Given the description of an element on the screen output the (x, y) to click on. 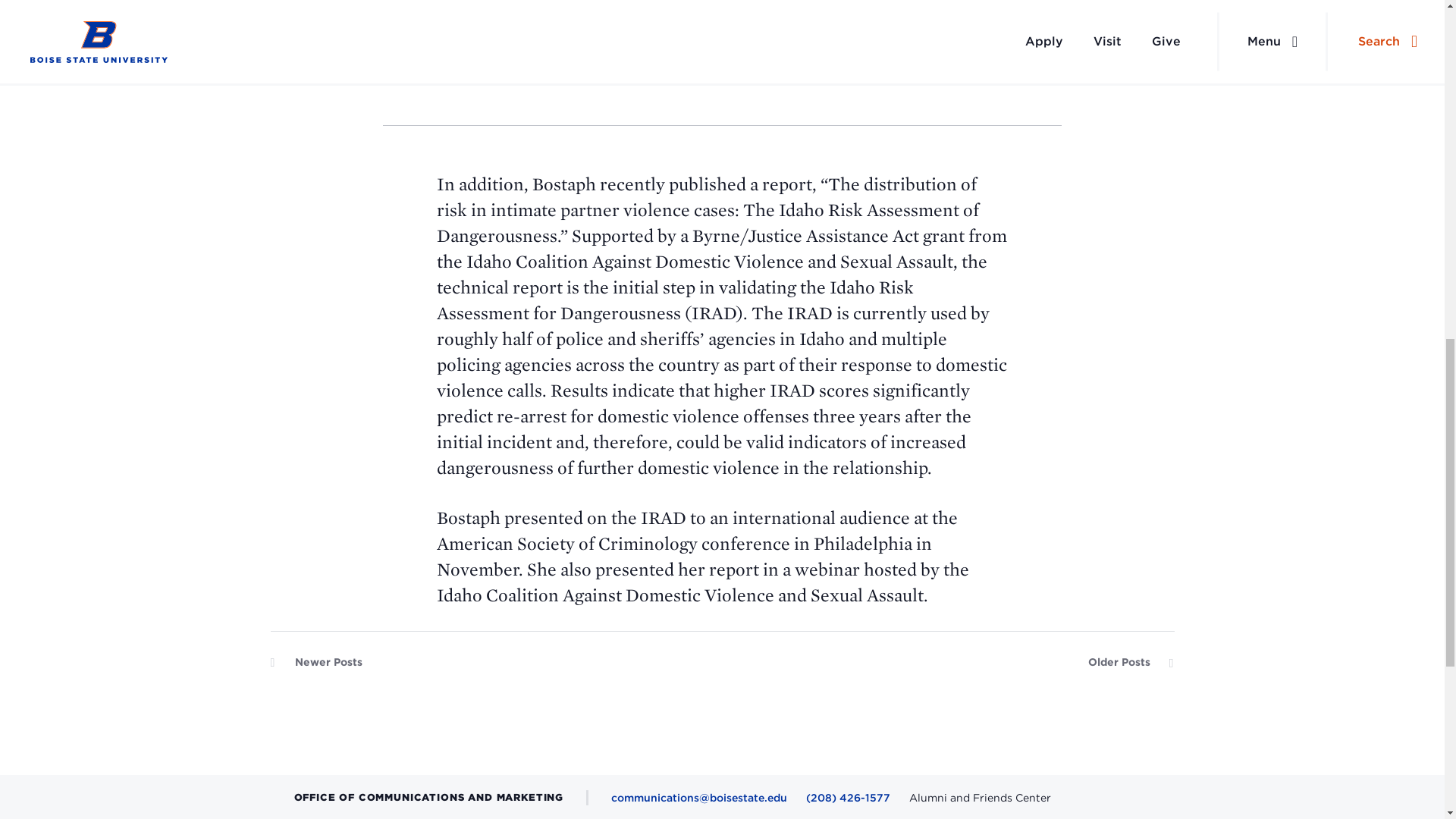
Newer Posts (315, 666)
Older Posts (1130, 666)
